Given the description of an element on the screen output the (x, y) to click on. 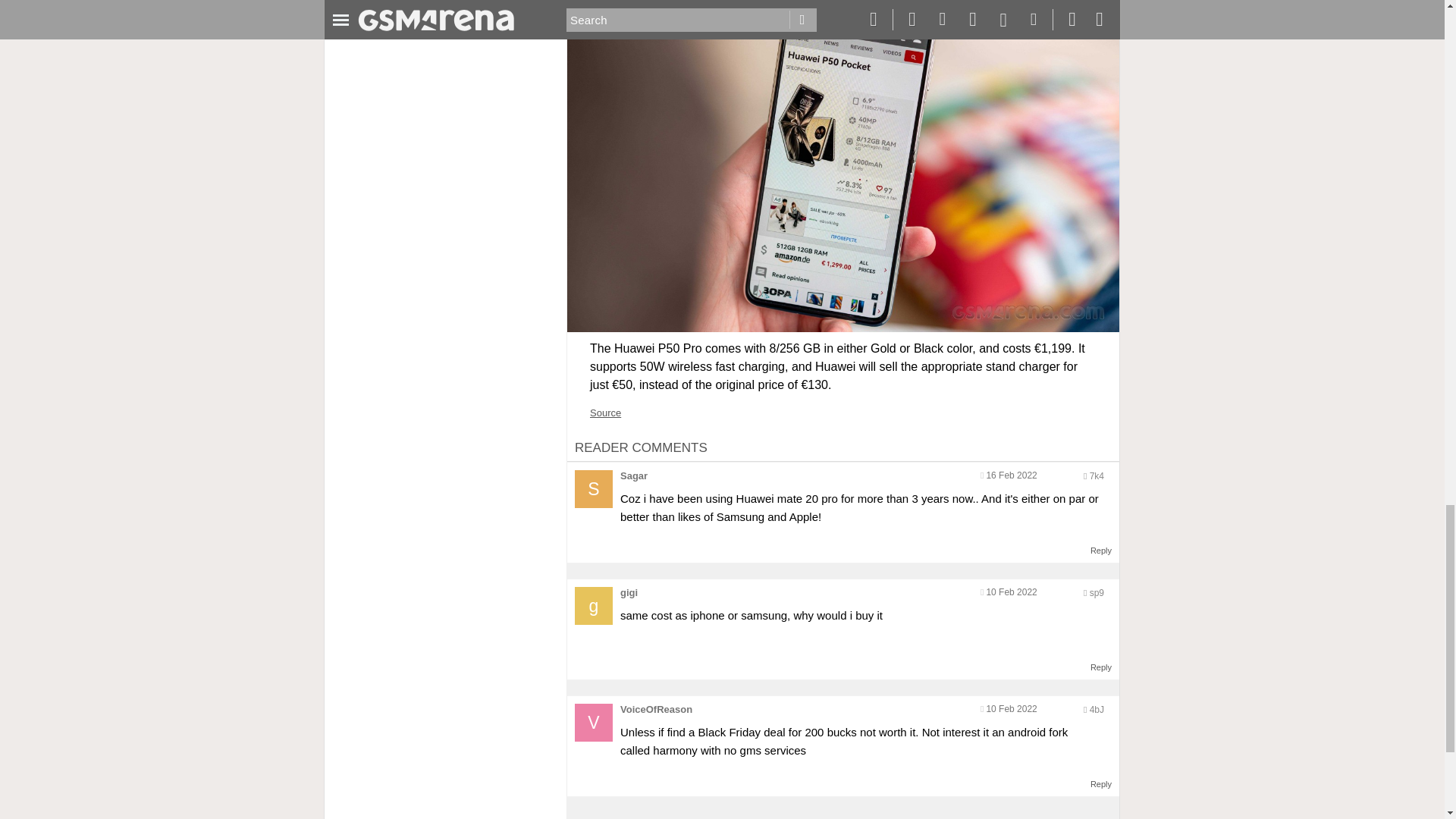
Encoded anonymized location (1096, 593)
Reply to this post (1101, 783)
Encoded anonymized location (1096, 709)
Reply to this post (1101, 550)
Encoded anonymized location (1096, 475)
Reply to this post (1101, 666)
Source (605, 412)
READER COMMENTS (641, 447)
